Given the description of an element on the screen output the (x, y) to click on. 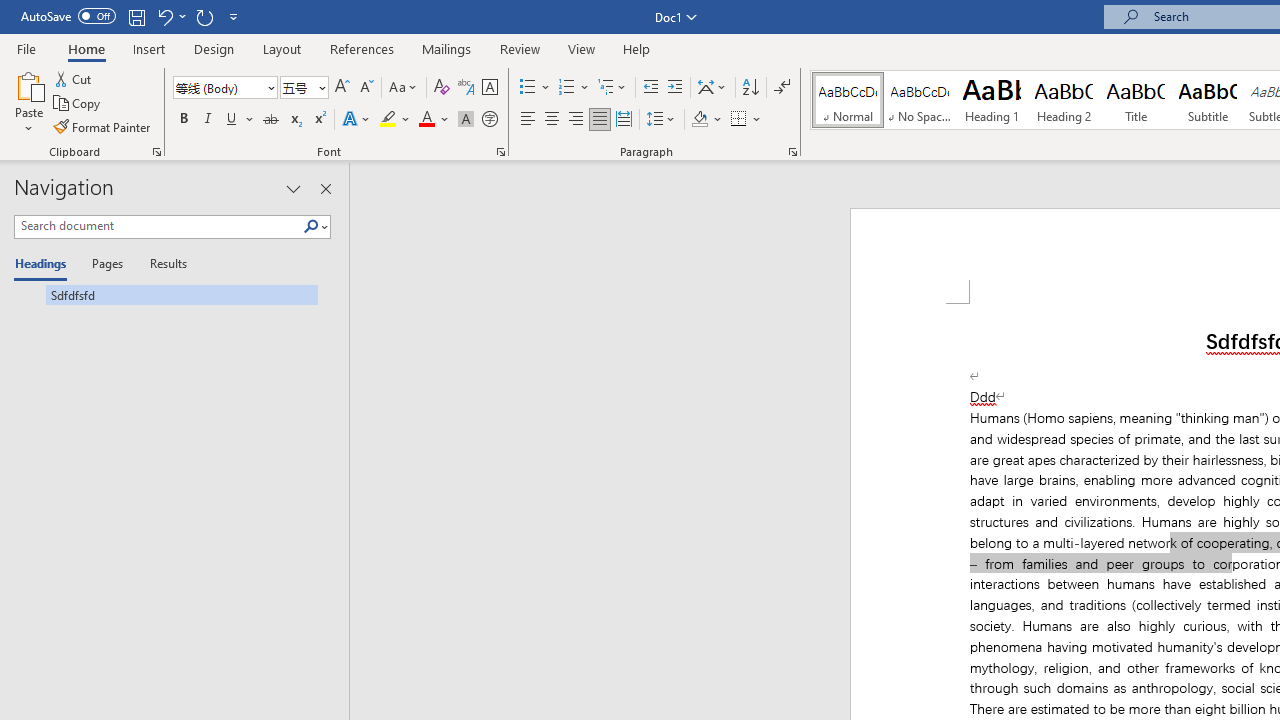
Line and Paragraph Spacing (661, 119)
Justify (599, 119)
Numbering (573, 87)
Search (315, 227)
Help (637, 48)
Distributed (623, 119)
Text Highlight Color Yellow (388, 119)
Bullets (527, 87)
Character Border (489, 87)
Borders (746, 119)
Layout (282, 48)
Review (520, 48)
Font (224, 87)
Font Color (434, 119)
Home (86, 48)
